Given the description of an element on the screen output the (x, y) to click on. 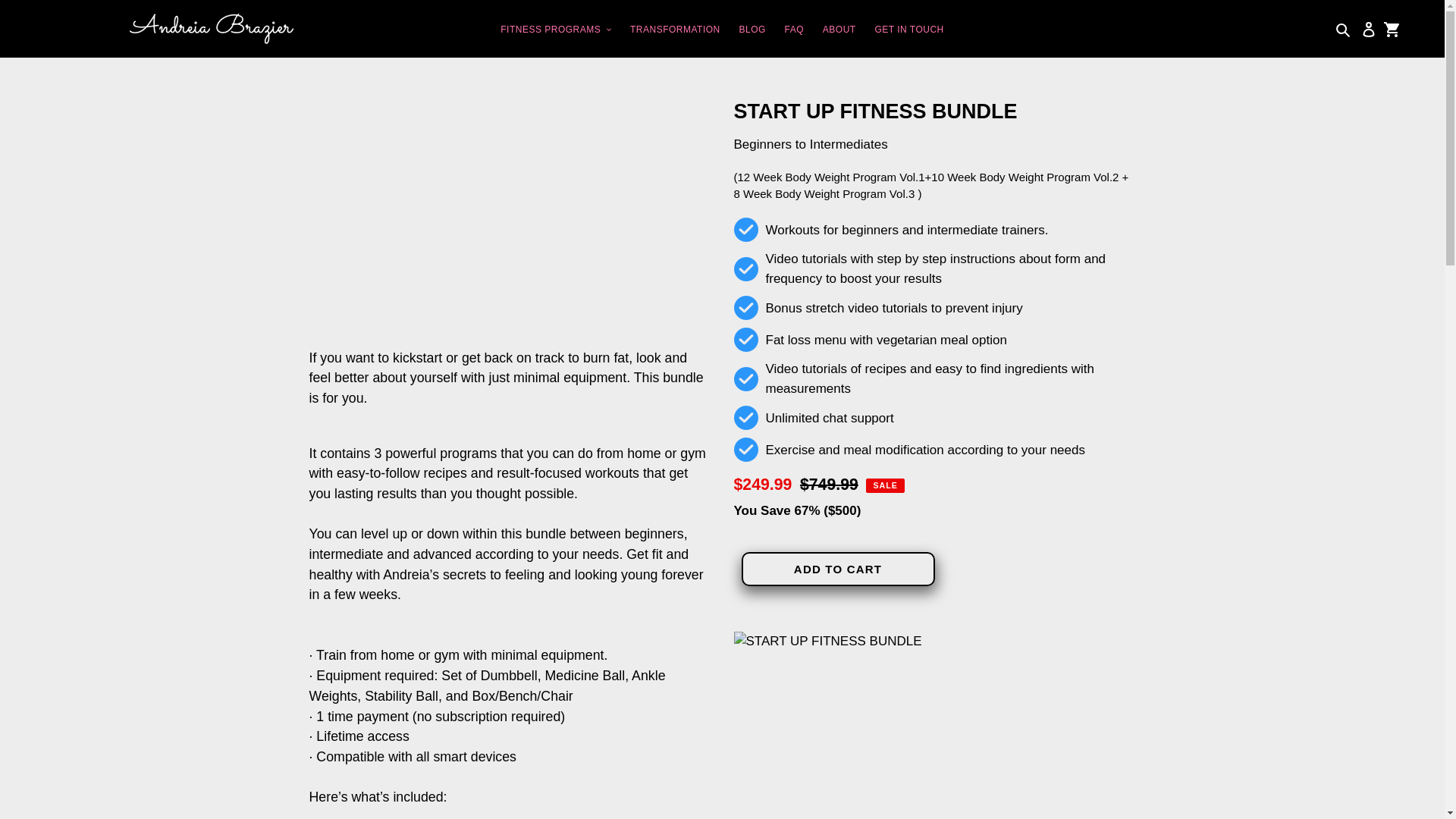
ADD TO CART (837, 569)
FITNESS PROGRAMS (555, 29)
TRANSFORMATION (675, 29)
FAQ (794, 29)
GET IN TOUCH (908, 29)
BLOG (751, 29)
ABOUT (839, 29)
Search (1343, 28)
